Given the description of an element on the screen output the (x, y) to click on. 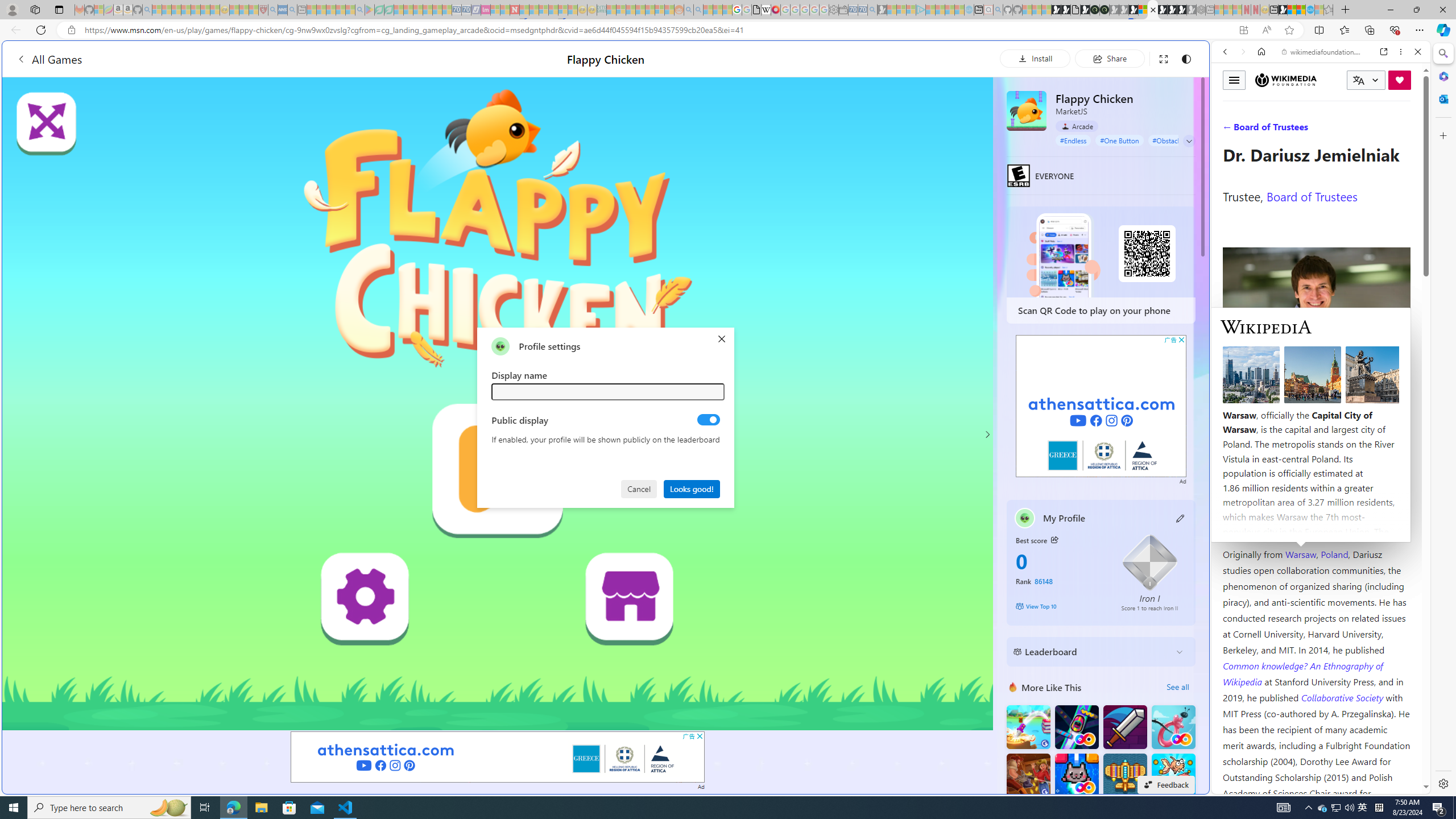
Target page - Wikipedia (766, 9)
Harvard University (1259, 526)
Workspaces (34, 9)
Home | Sky Blue Bikes - Sky Blue Bikes - Sleeping (968, 9)
See all (1177, 687)
AutomationID: canvas (497, 403)
VIDEOS (1300, 130)
Knife Flip (1028, 726)
Search Filter, Search Tools (1350, 129)
Collections (1369, 29)
